Given the description of an element on the screen output the (x, y) to click on. 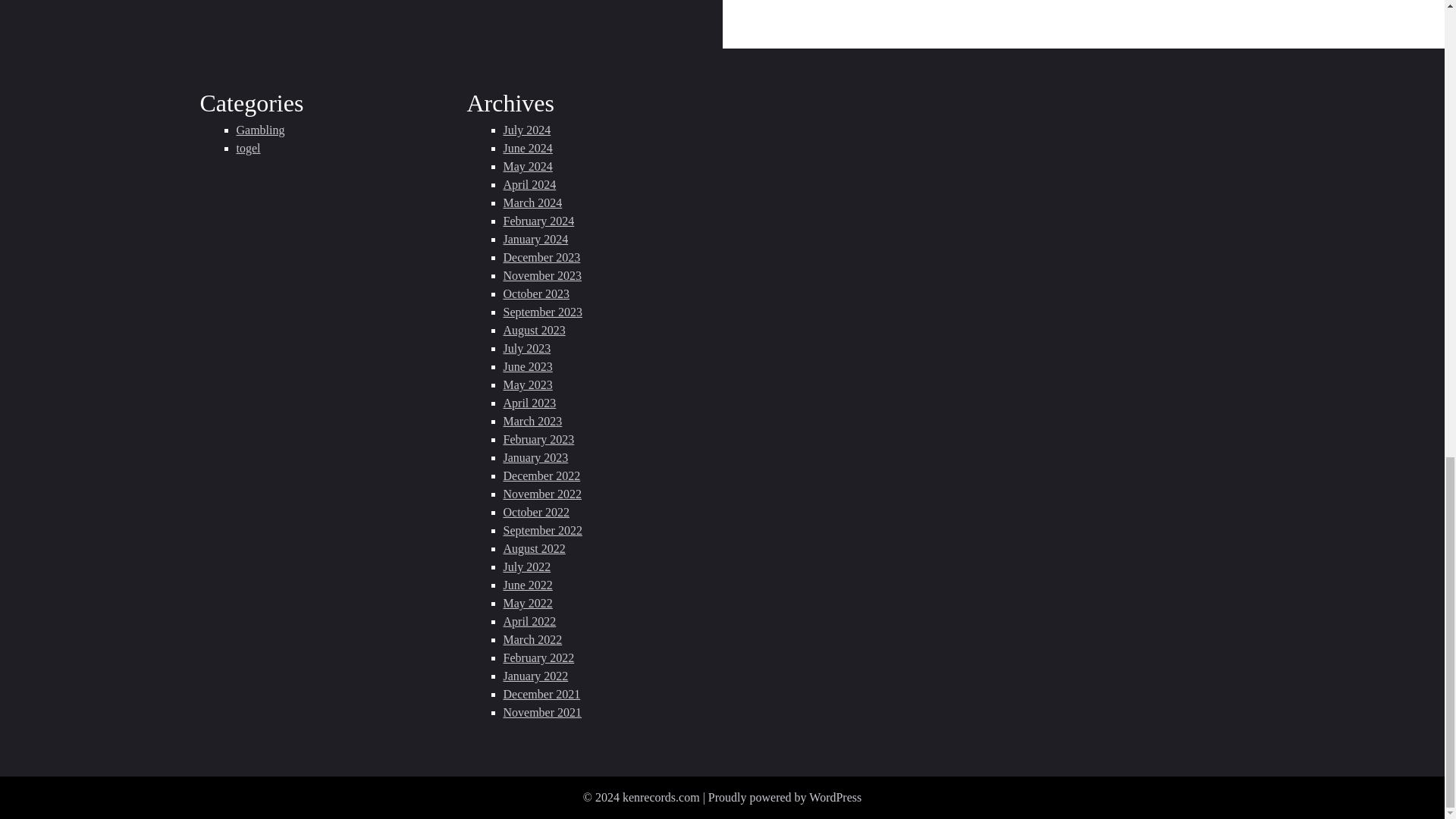
September 2023 (542, 311)
March 2023 (532, 420)
July 2024 (527, 129)
June 2023 (528, 366)
June 2022 (528, 584)
November 2022 (542, 493)
February 2022 (539, 657)
June 2024 (528, 147)
March 2024 (532, 202)
February 2023 (539, 439)
August 2023 (534, 329)
December 2023 (541, 256)
Gambling (260, 129)
togel (247, 147)
December 2021 (541, 694)
